Given the description of an element on the screen output the (x, y) to click on. 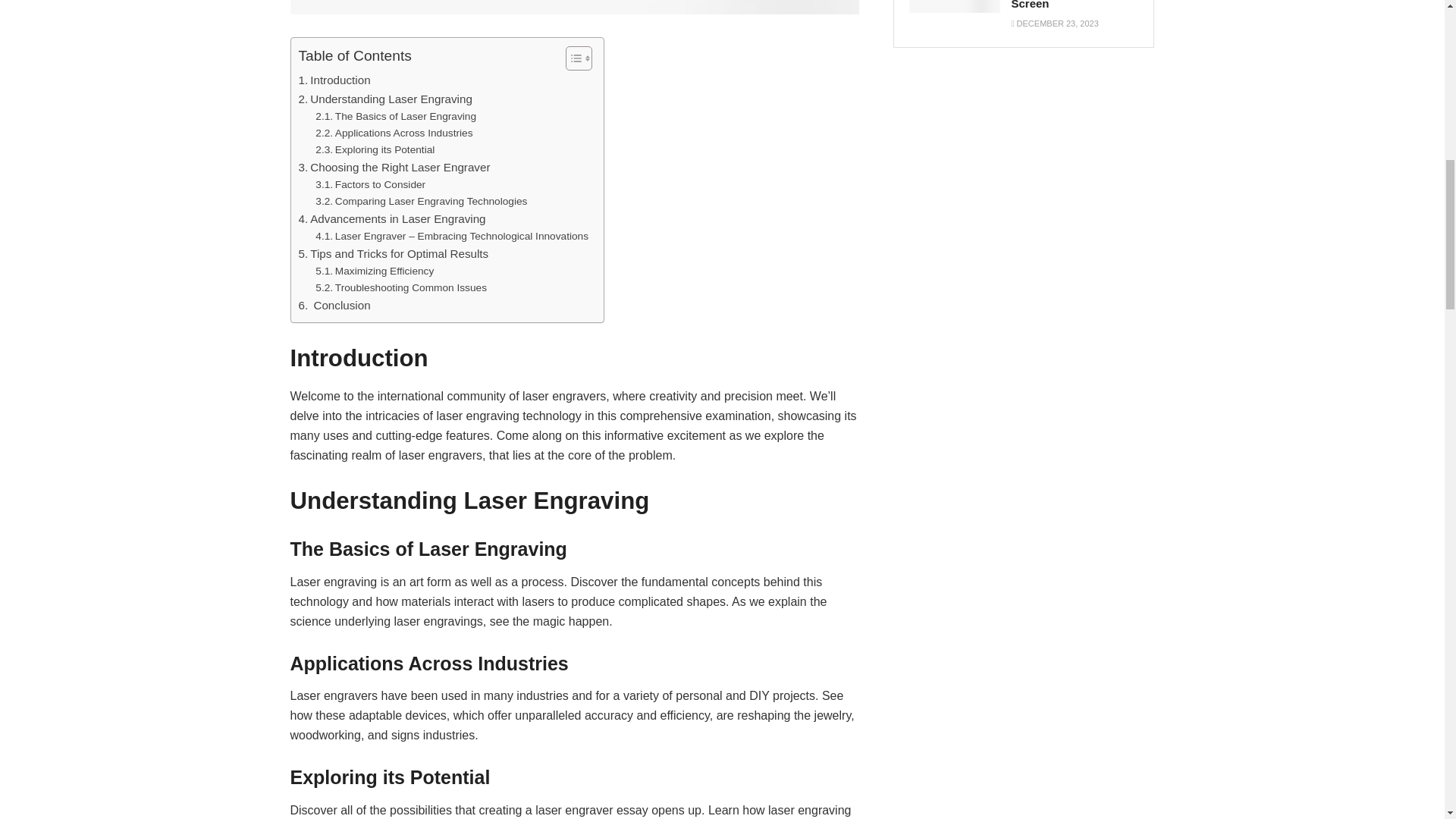
The Basics of Laser Engraving (395, 116)
Maximizing Efficiency (374, 271)
Factors to Consider (370, 184)
Comparing Laser Engraving Technologies (421, 201)
Exploring its Potential (374, 149)
Understanding Laser Engraving (384, 99)
The Basics of Laser Engraving (395, 116)
Choosing the Right Laser Engraver (394, 167)
Troubleshooting Common Issues (400, 288)
Tips and Tricks for Optimal Results (393, 253)
Exploring its Potential (374, 149)
Introduction (334, 80)
Applications Across Industries (393, 133)
Introduction (334, 80)
